Given the description of an element on the screen output the (x, y) to click on. 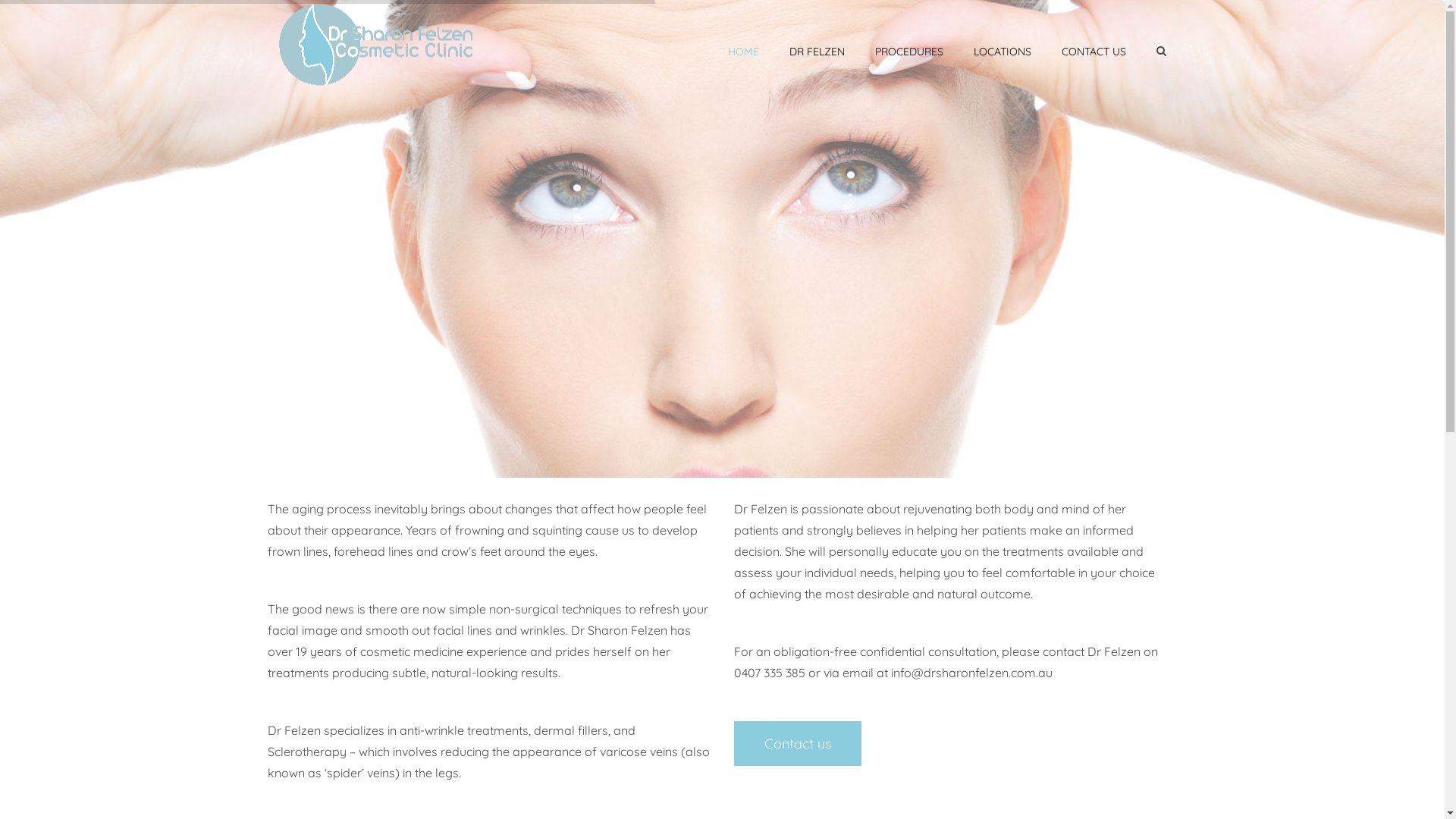
CONTACT US Element type: text (1093, 51)
HOME Element type: text (743, 51)
DR FELZEN Element type: text (816, 51)
Go Element type: text (1147, 18)
Contact us Element type: text (797, 743)
LOCATIONS Element type: text (1002, 51)
Dr. Sharon Felzen Element type: hover (378, 42)
